Given the description of an element on the screen output the (x, y) to click on. 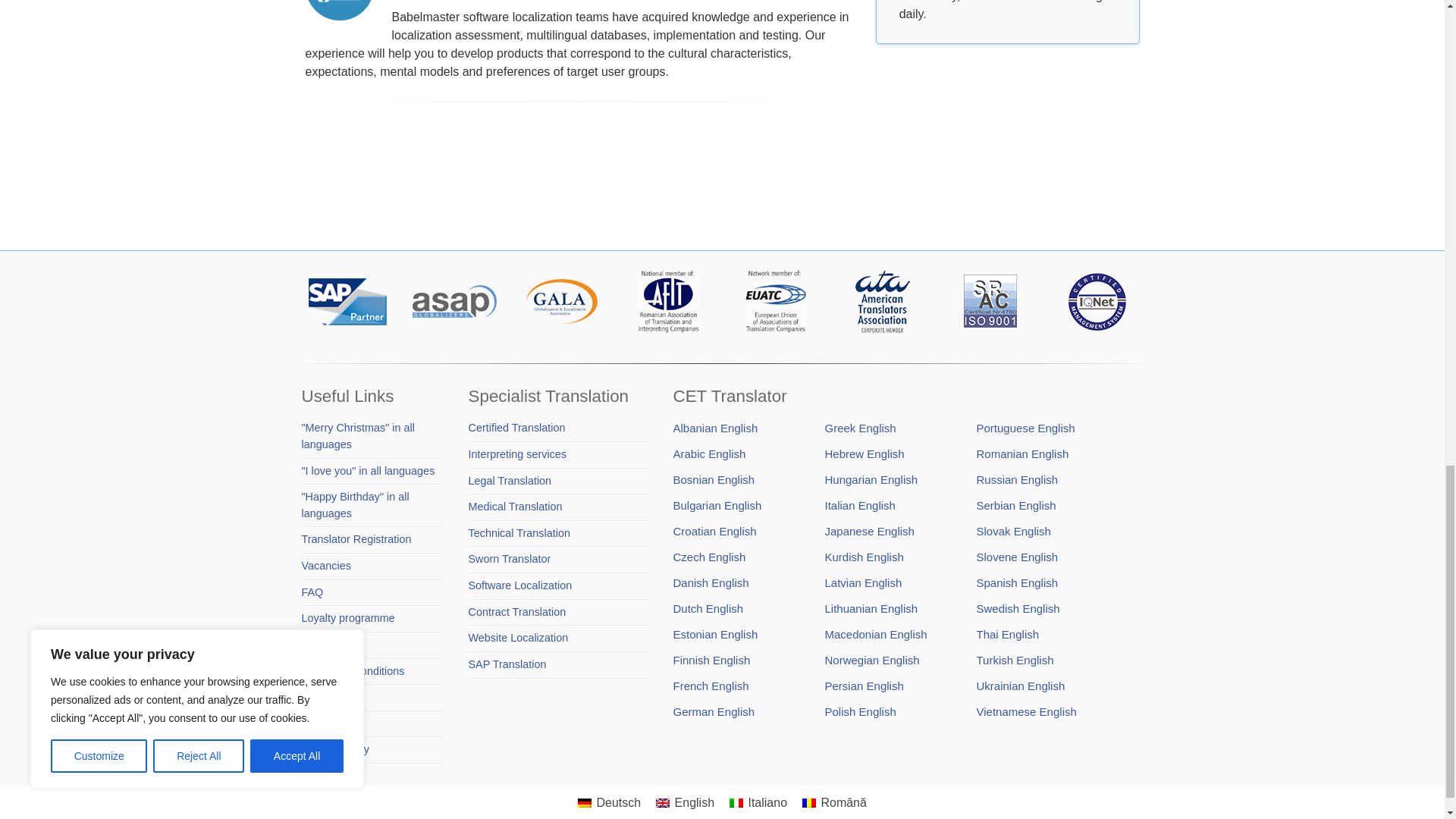
Deutsch (584, 802)
